Given the description of an element on the screen output the (x, y) to click on. 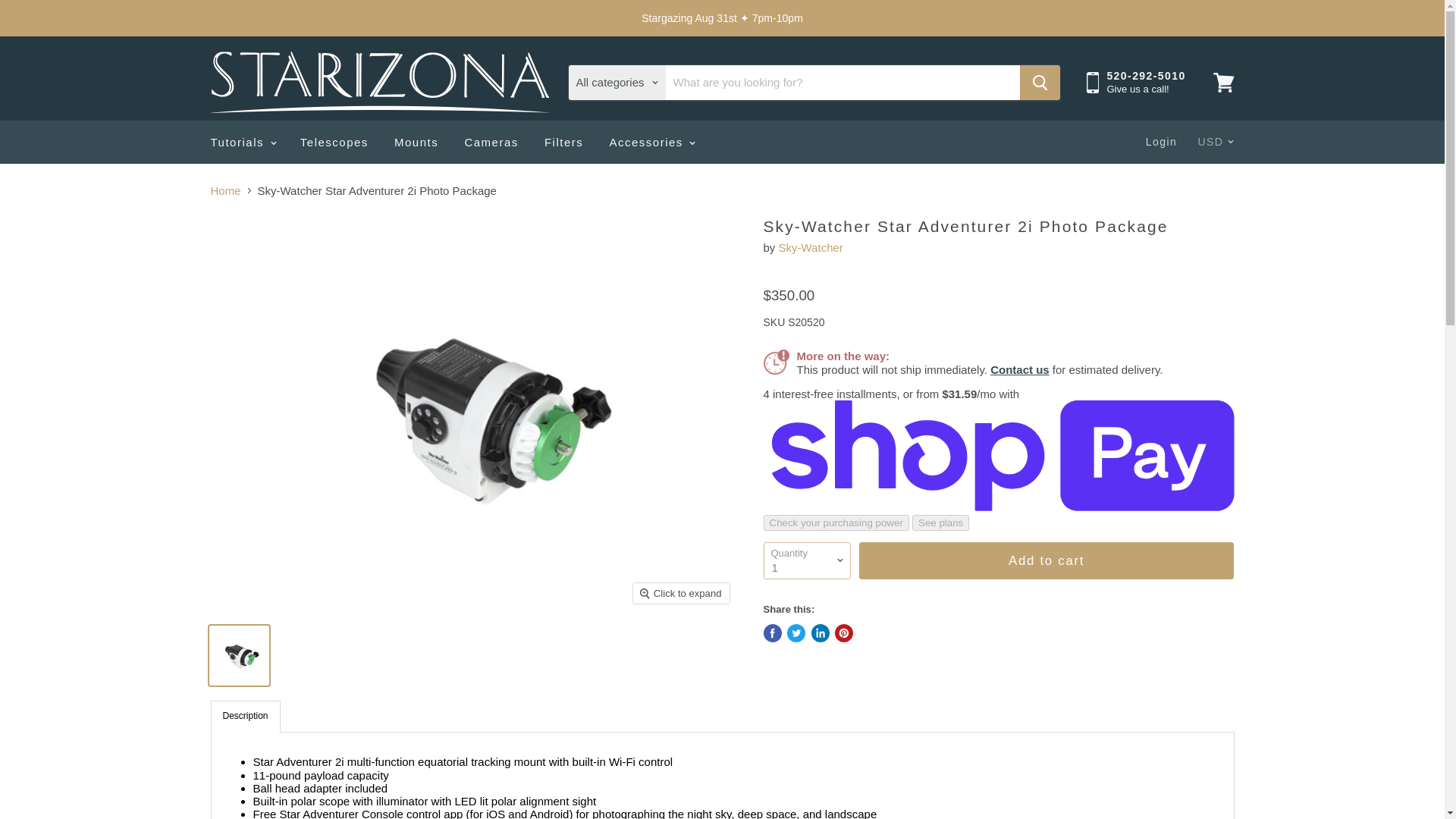
Telescopes (334, 142)
Login (1161, 142)
View cart (1223, 82)
Tutorials (241, 142)
Filters (563, 142)
Accessories (650, 142)
Cameras (490, 142)
Mounts (415, 142)
Sky-Watcher (810, 246)
